Given the description of an element on the screen output the (x, y) to click on. 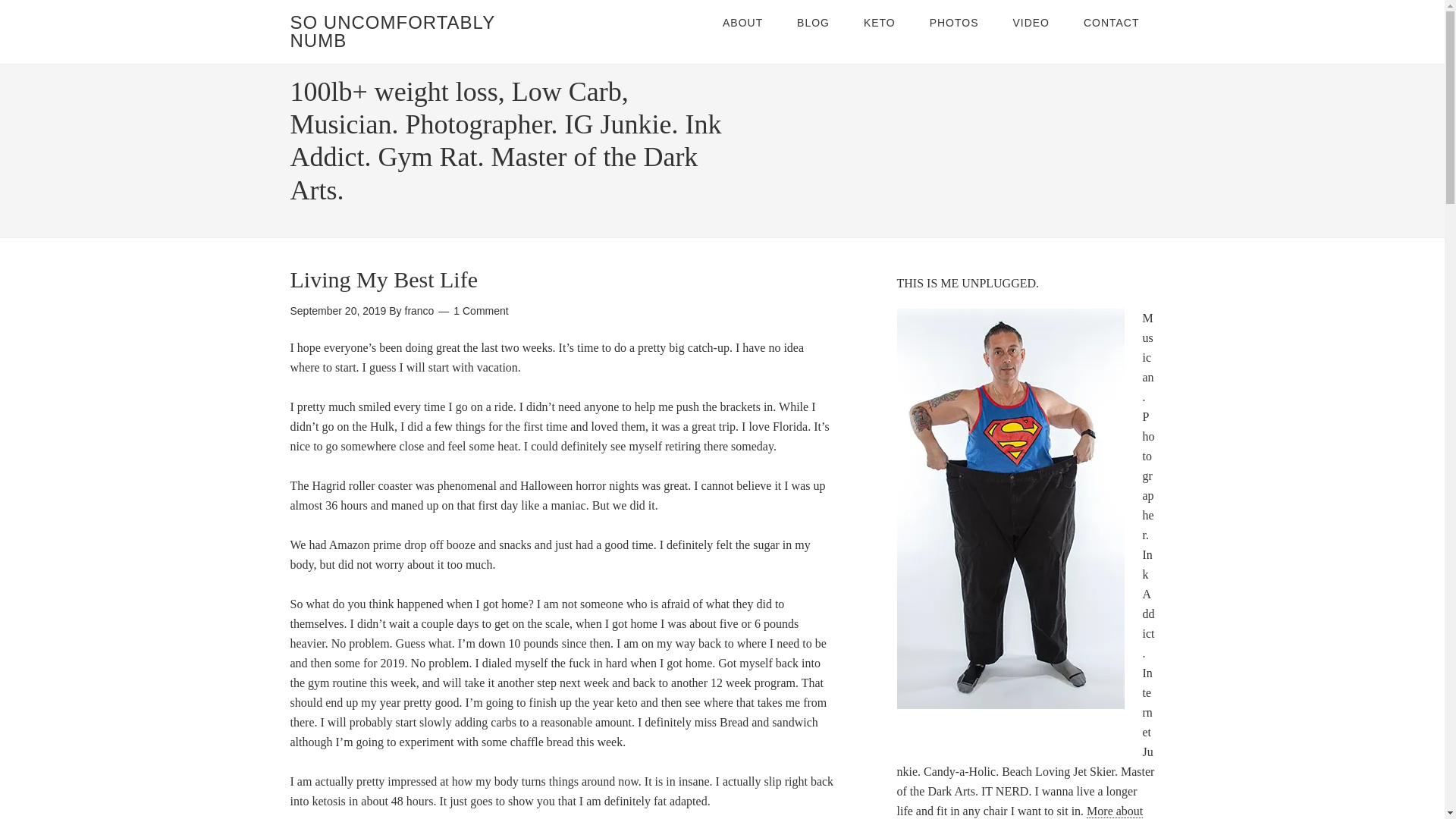
More about me (1019, 811)
PHOTOS (954, 22)
CONTACT (1111, 22)
ABOUT (742, 22)
VIDEO (1030, 22)
KETO (879, 22)
1 Comment (480, 310)
BLOG (812, 22)
franco (418, 310)
SO UNCOMFORTABLY NUMB (392, 31)
